Given the description of an element on the screen output the (x, y) to click on. 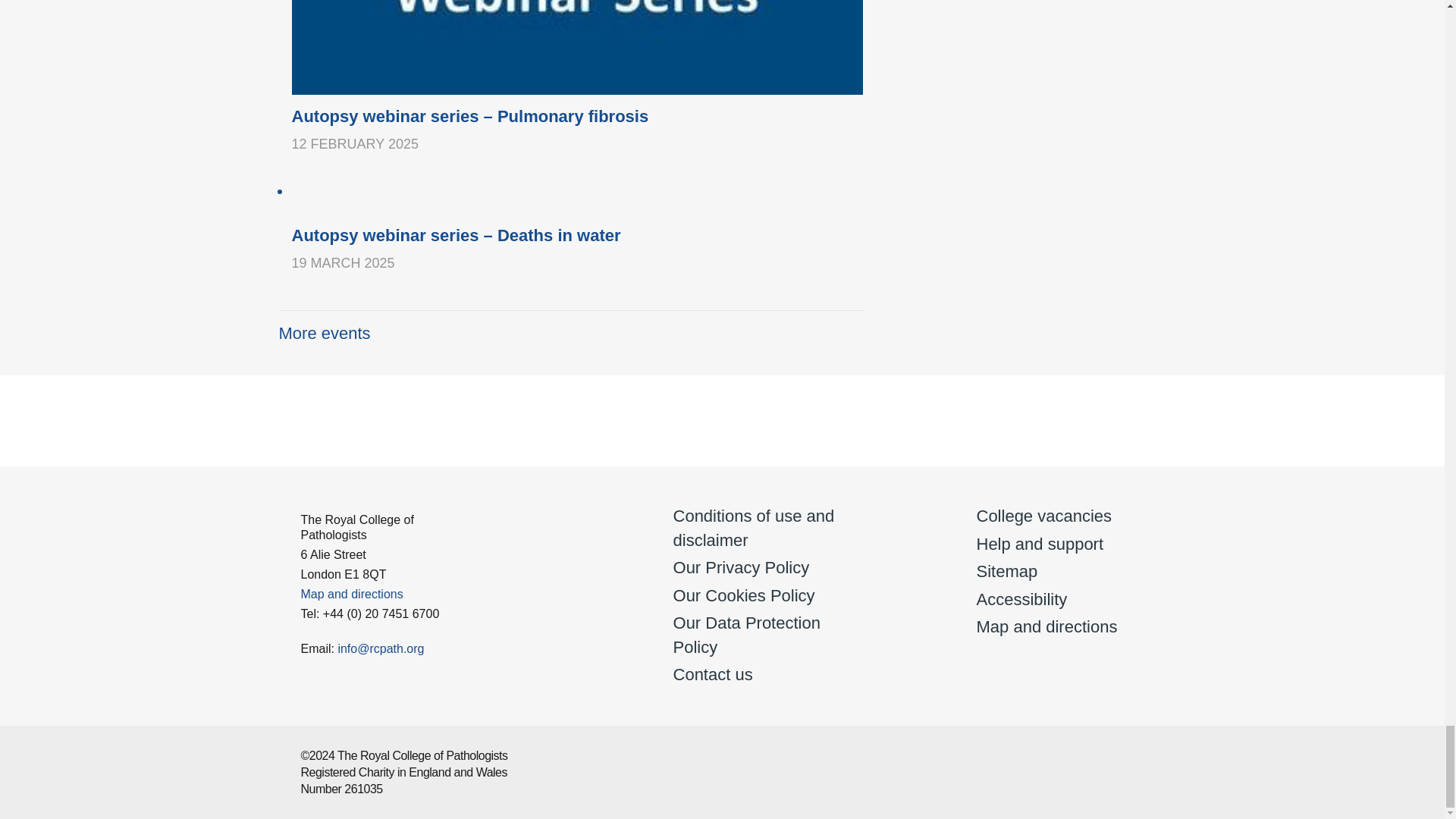
Youtube (1014, 425)
Conditions of use and disclaimer (753, 527)
Accessibility (1021, 599)
